Given the description of an element on the screen output the (x, y) to click on. 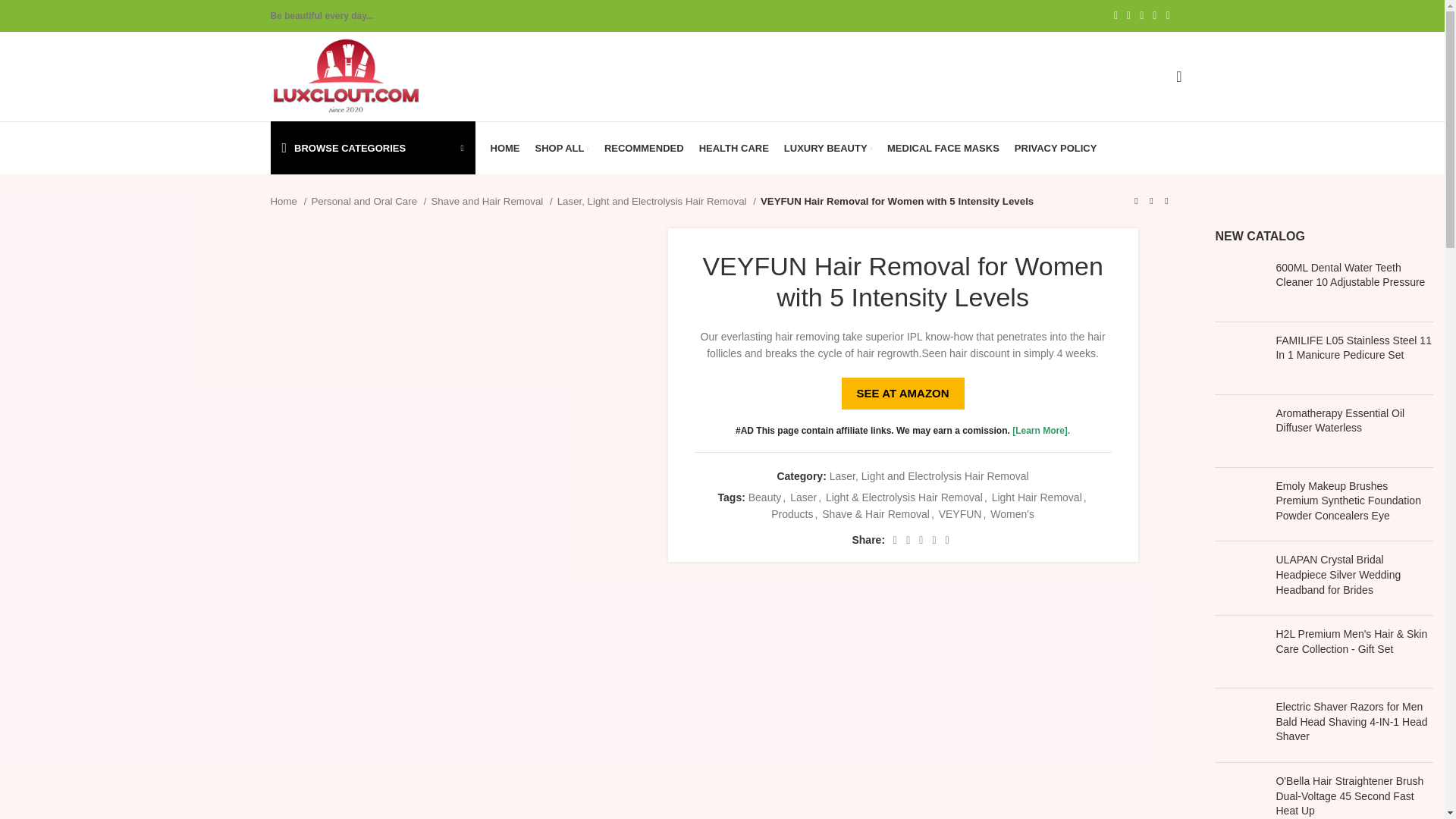
FAMILIFE L05 Stainless Steel 11 In 1 Manicure Pedicure Set (1238, 358)
600ML Dental Water Teeth Cleaner 10 Adjustable Pressure (1238, 285)
600ML Dental Water Teeth Cleaner 10 Adjustable Pressure (1353, 275)
FAMILIFE L05 Stainless Steel 11 In 1 Manicure Pedicure Set (1353, 348)
